Given the description of an element on the screen output the (x, y) to click on. 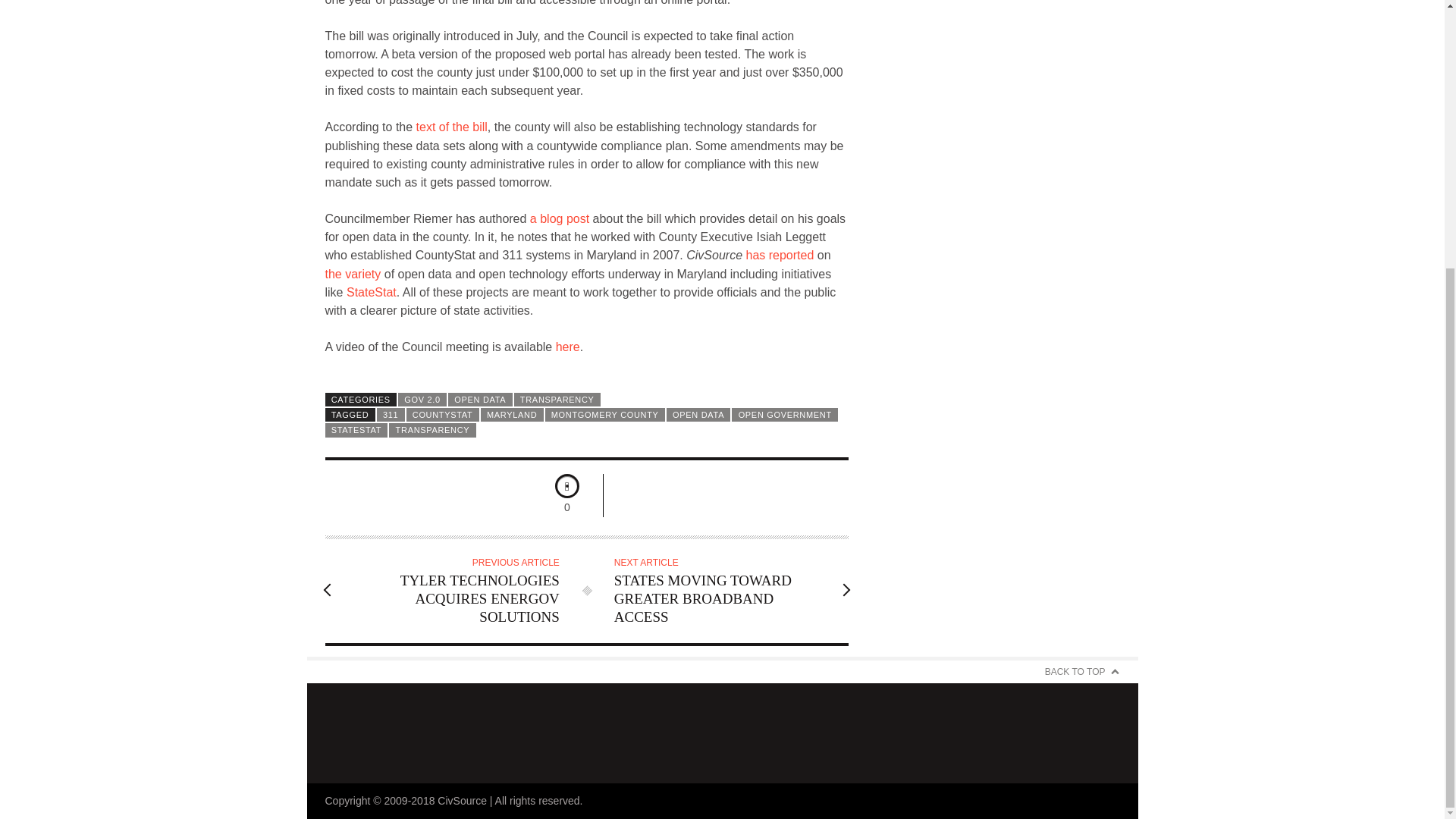
View all posts tagged open government (785, 414)
View all posts tagged Maryland (511, 414)
View all posts tagged open data (698, 414)
View all posts tagged statestat (355, 429)
View all posts tagged transparency (432, 429)
View all posts in Open Data (480, 399)
View all posts in Gov 2.0 (421, 399)
View all posts in Transparency (556, 399)
View all posts tagged 311 (390, 414)
View all posts tagged Montgomery County (604, 414)
View all posts tagged CountyStat (442, 414)
